Given the description of an element on the screen output the (x, y) to click on. 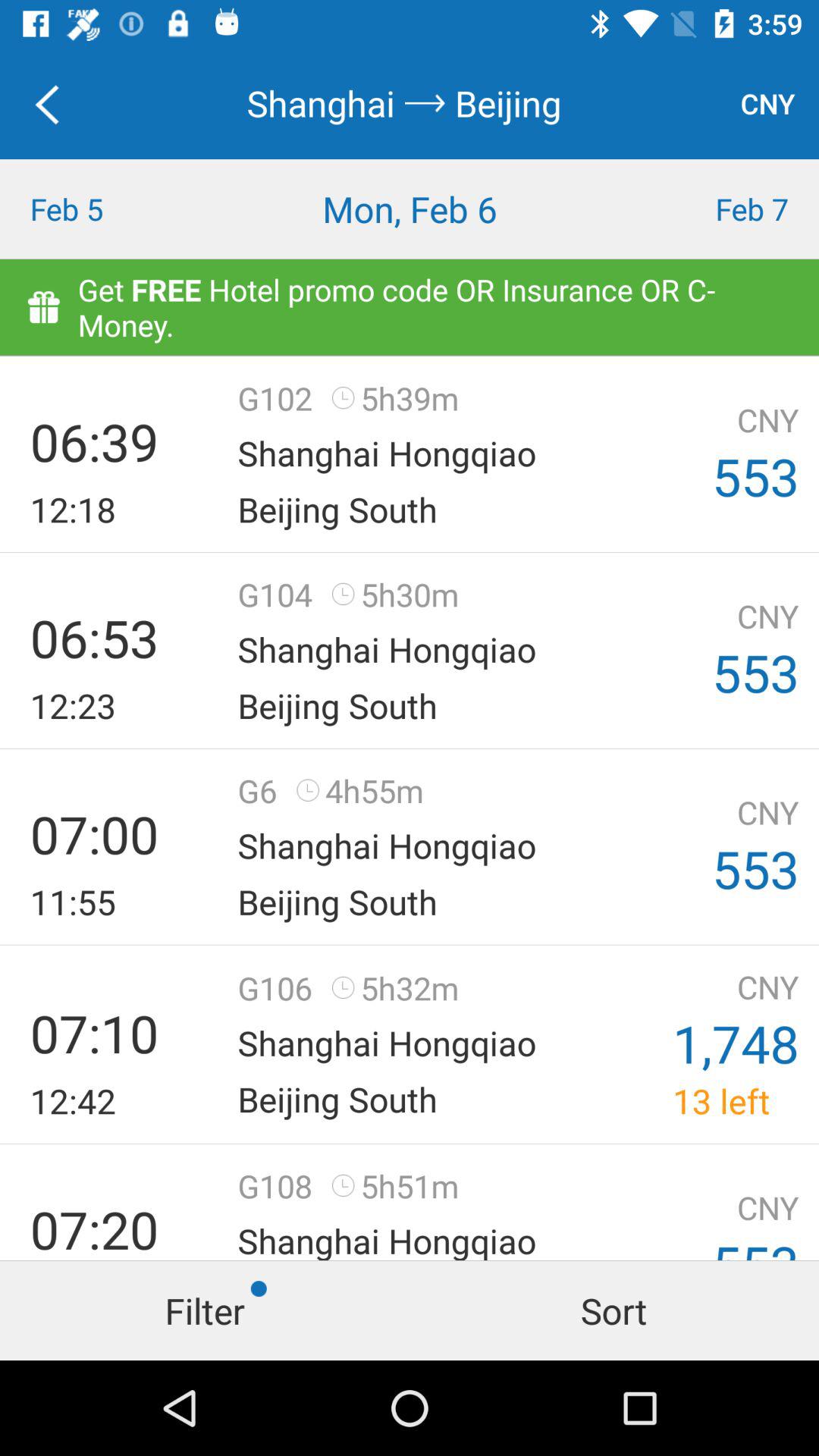
launch icon to the right of the feb 5 icon (409, 208)
